Given the description of an element on the screen output the (x, y) to click on. 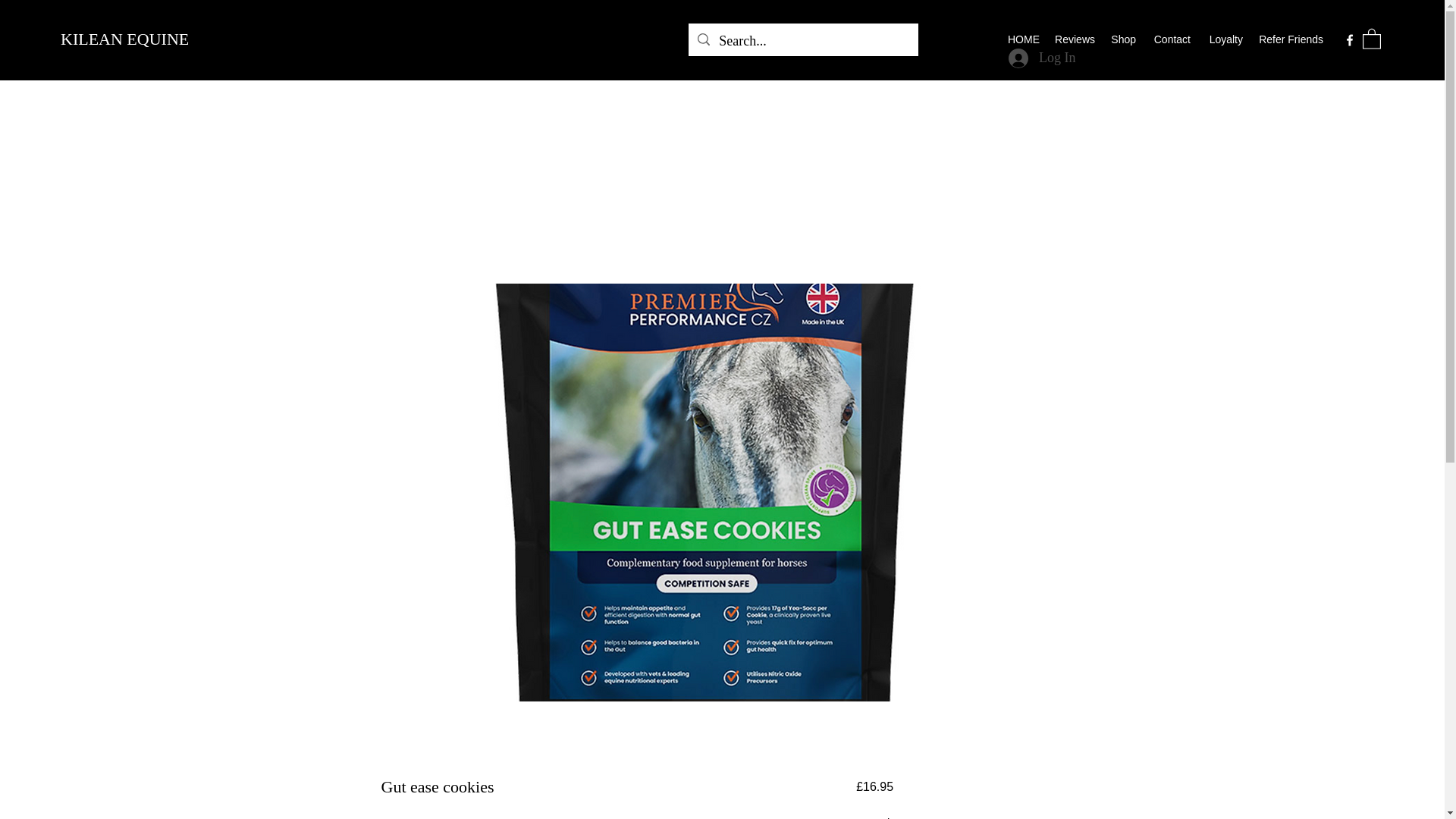
KILEAN EQUINE  (127, 38)
Log In (1041, 58)
HOME (1023, 38)
Refer Friends (1290, 38)
Loyalty (1224, 38)
Contact (1170, 38)
Shop (1122, 38)
Reviews (1074, 38)
